Given the description of an element on the screen output the (x, y) to click on. 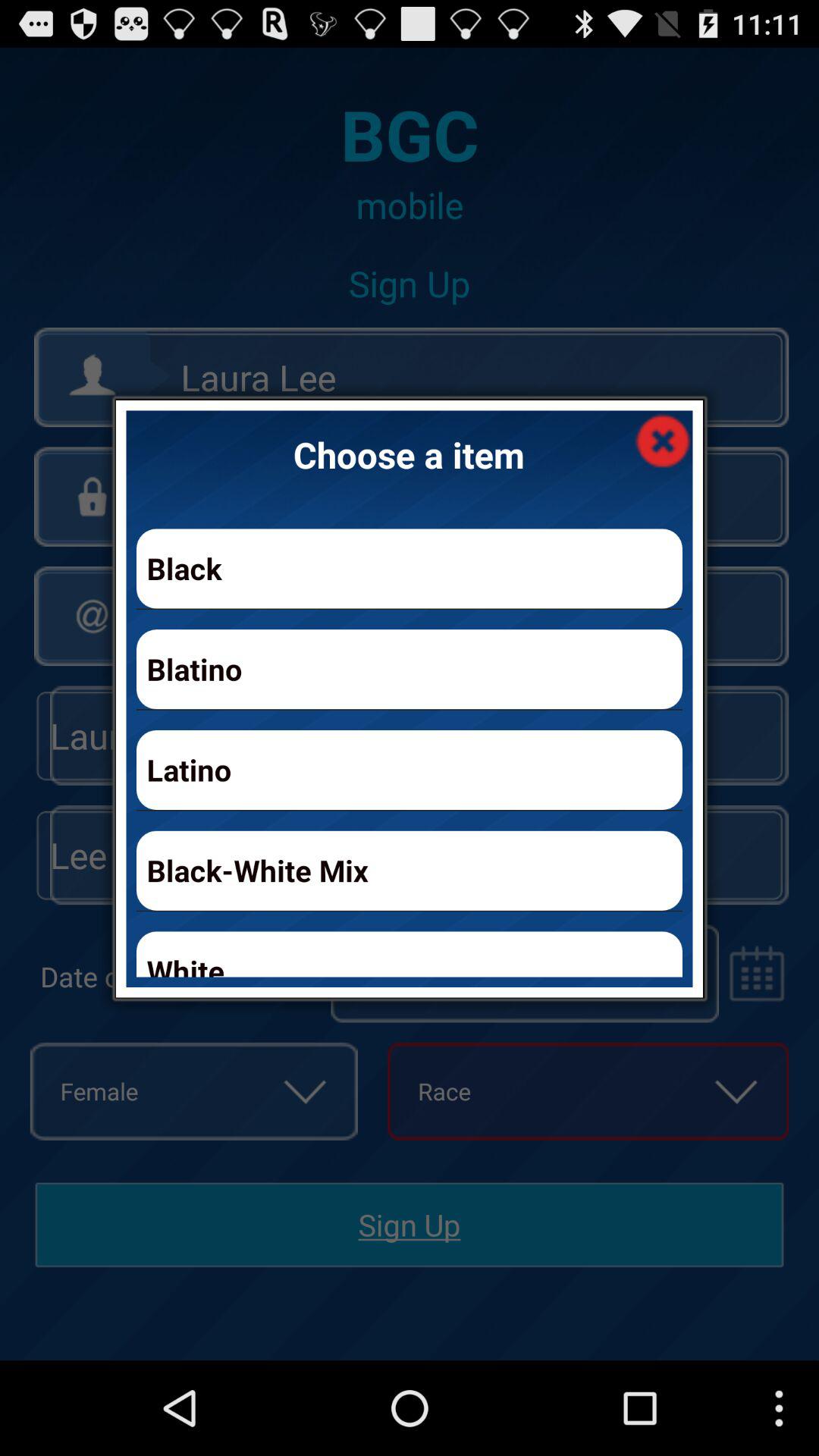
flip to the latino (409, 769)
